Given the description of an element on the screen output the (x, y) to click on. 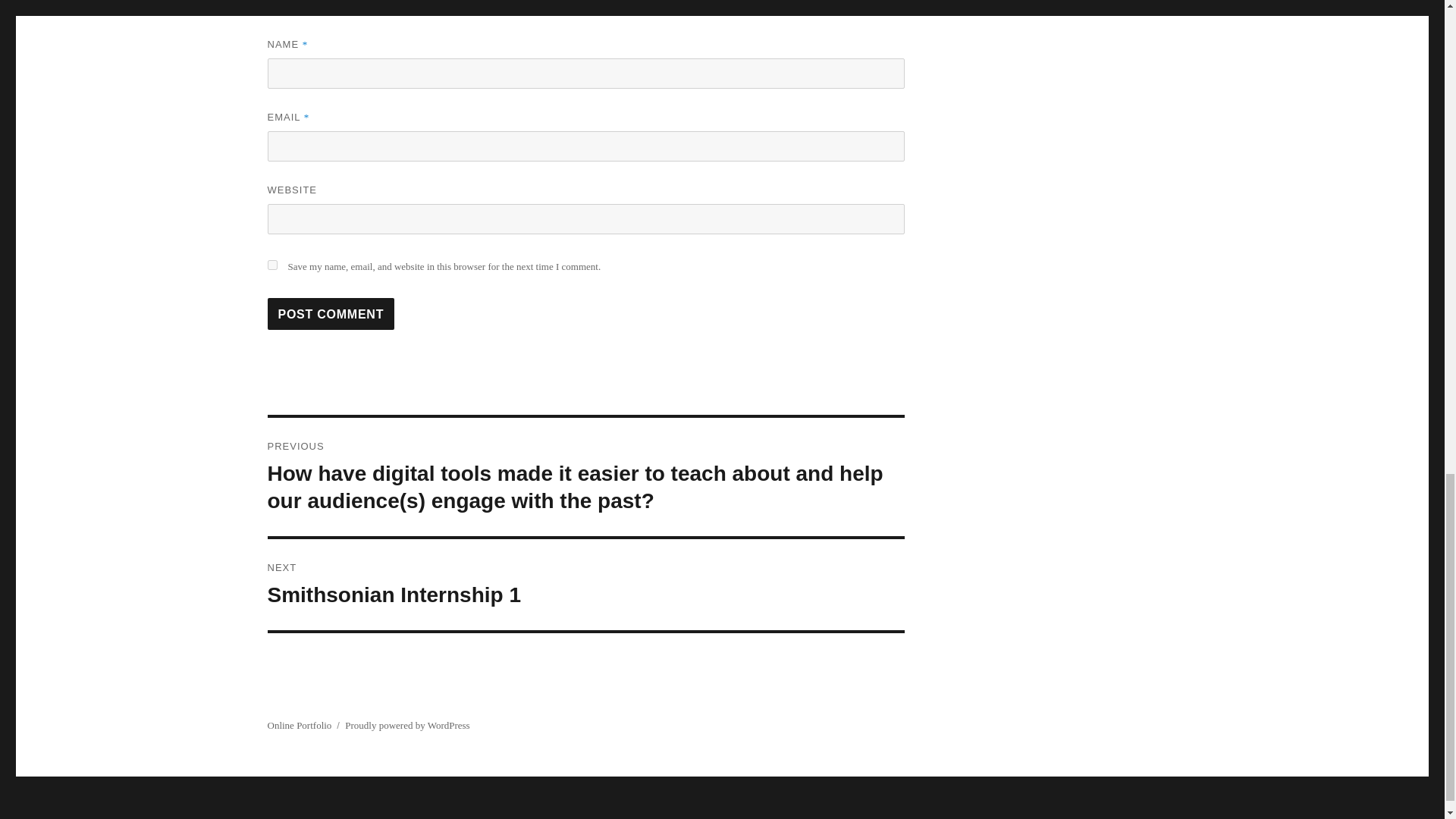
Online Portfolio (298, 725)
Post Comment (330, 314)
Post Comment (585, 583)
Proudly powered by WordPress (330, 314)
yes (406, 725)
